Given the description of an element on the screen output the (x, y) to click on. 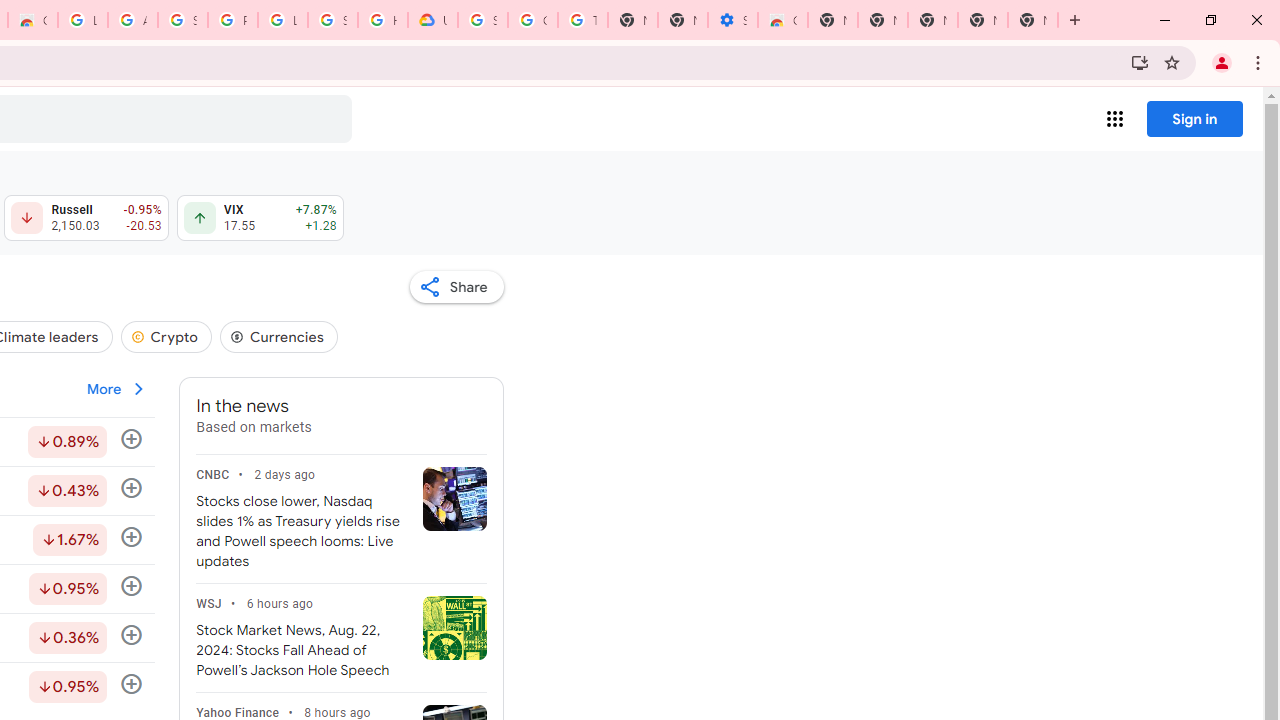
Settings - Accessibility (732, 20)
Chrome Web Store - Accessibility extensions (782, 20)
Follow (131, 684)
